Given the description of an element on the screen output the (x, y) to click on. 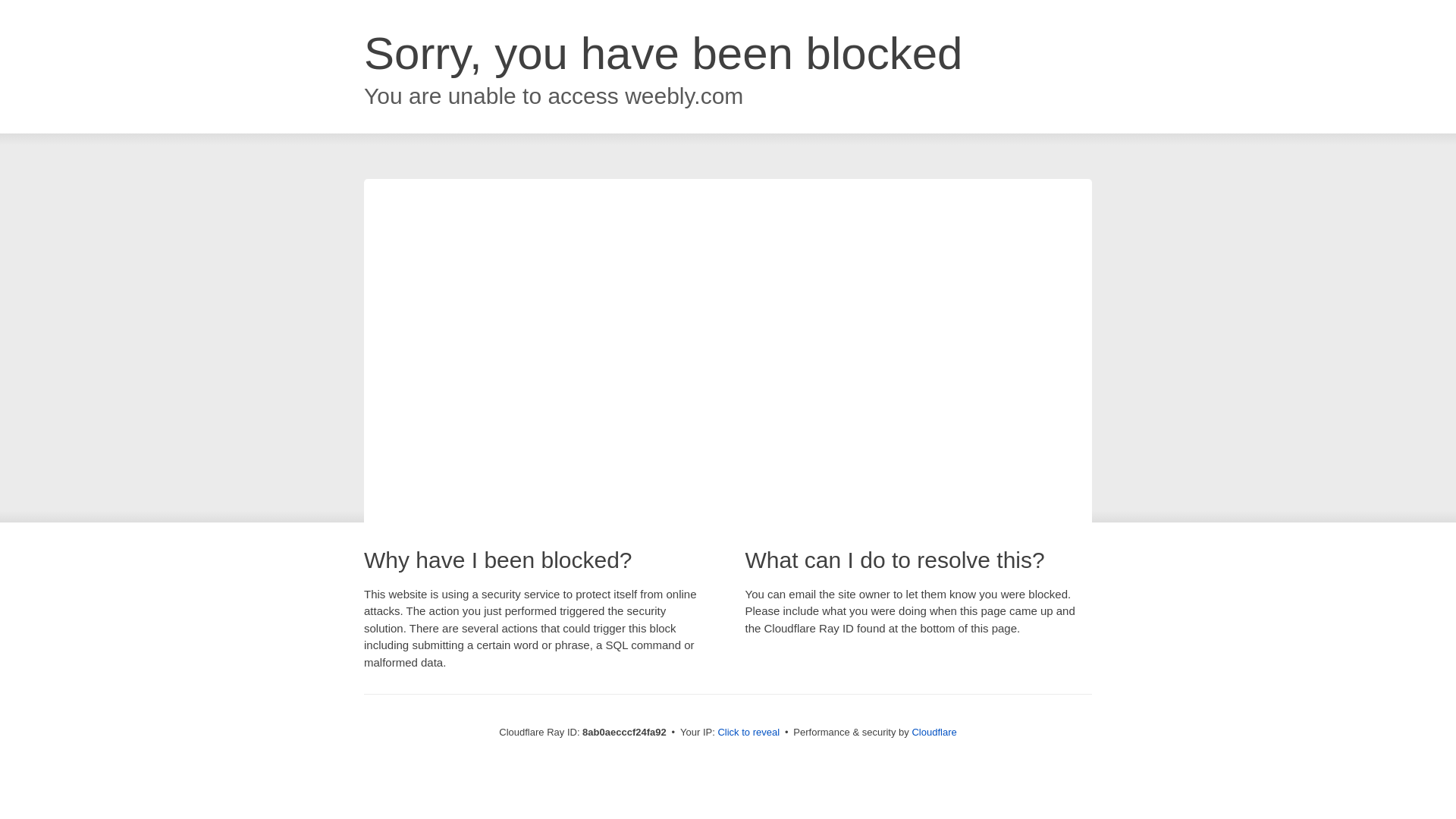
Cloudflare (933, 731)
Click to reveal (747, 732)
